Given the description of an element on the screen output the (x, y) to click on. 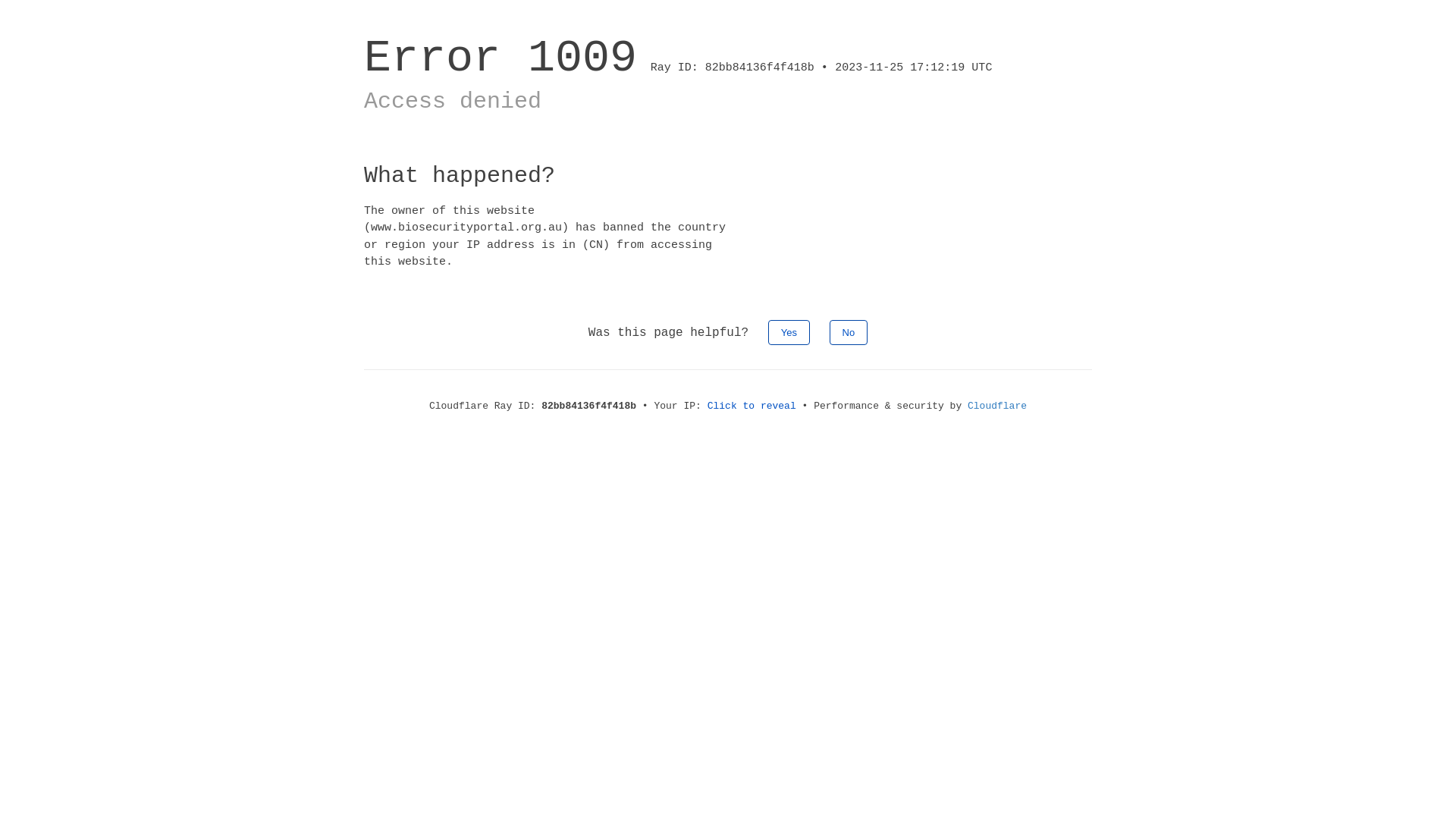
Cloudflare Element type: text (996, 405)
Click to reveal Element type: text (751, 405)
Yes Element type: text (788, 332)
No Element type: text (848, 332)
